Given the description of an element on the screen output the (x, y) to click on. 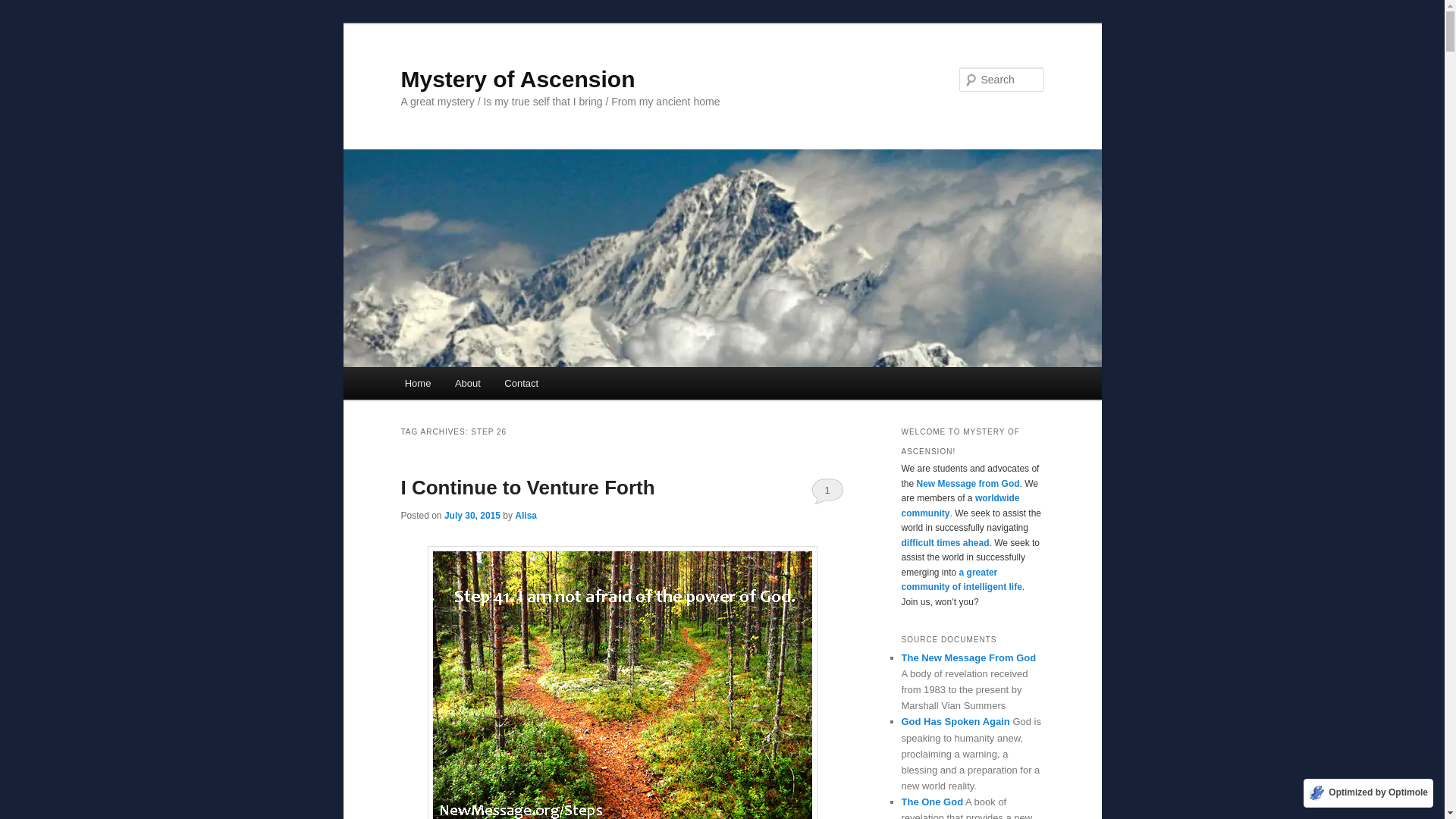
1 (827, 490)
Search (24, 8)
Home (417, 382)
About (467, 382)
Alisa (526, 515)
1:53 AM (472, 515)
I Continue to Venture Forth (526, 486)
Contact (521, 382)
Mystery of Ascension (517, 78)
View all posts by Alisa (526, 515)
July 30, 2015 (472, 515)
